Given the description of an element on the screen output the (x, y) to click on. 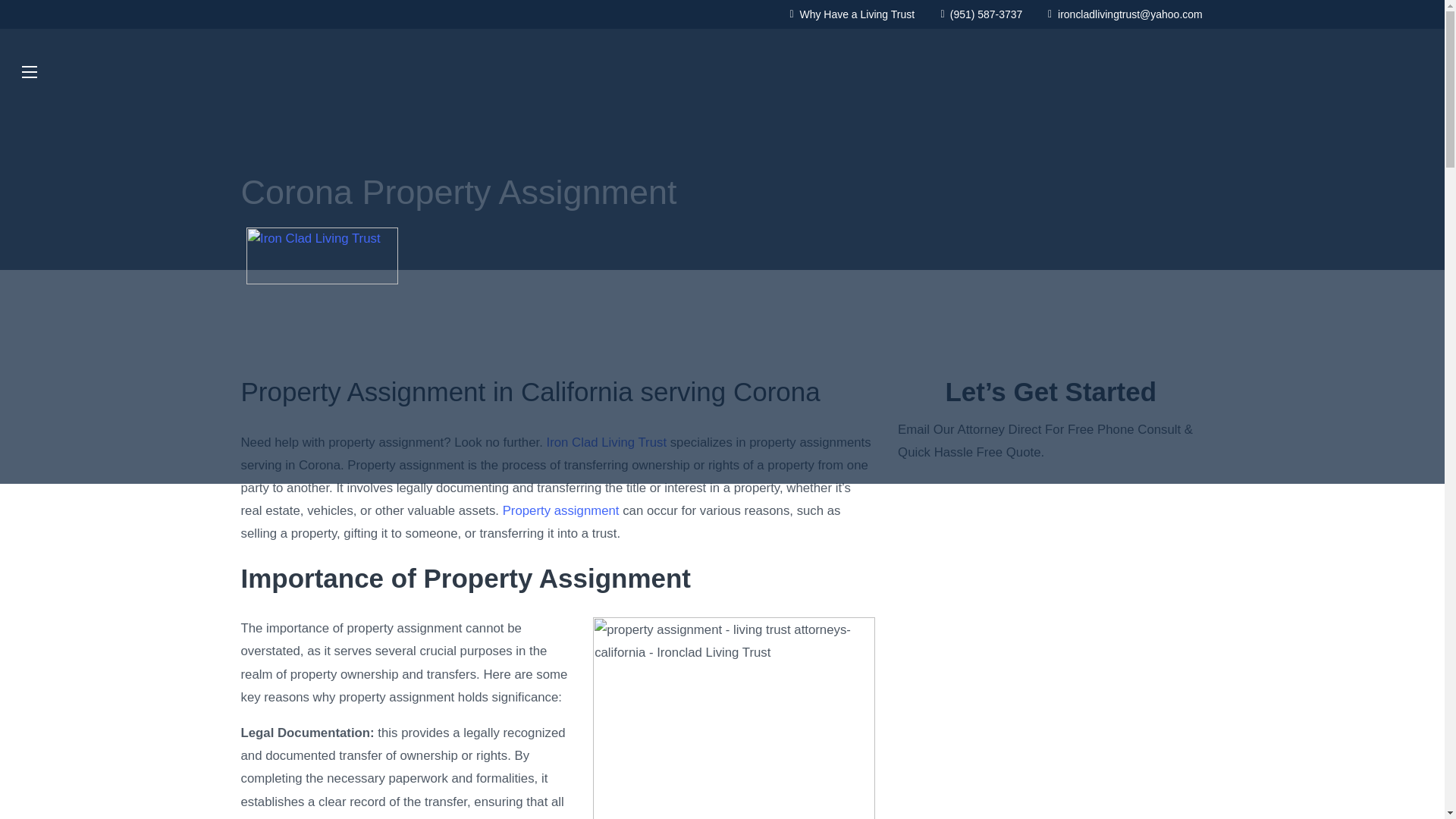
Why Have a Living Trust (852, 14)
Iron Clad Living Trust (606, 441)
Property assignment (561, 510)
